Given the description of an element on the screen output the (x, y) to click on. 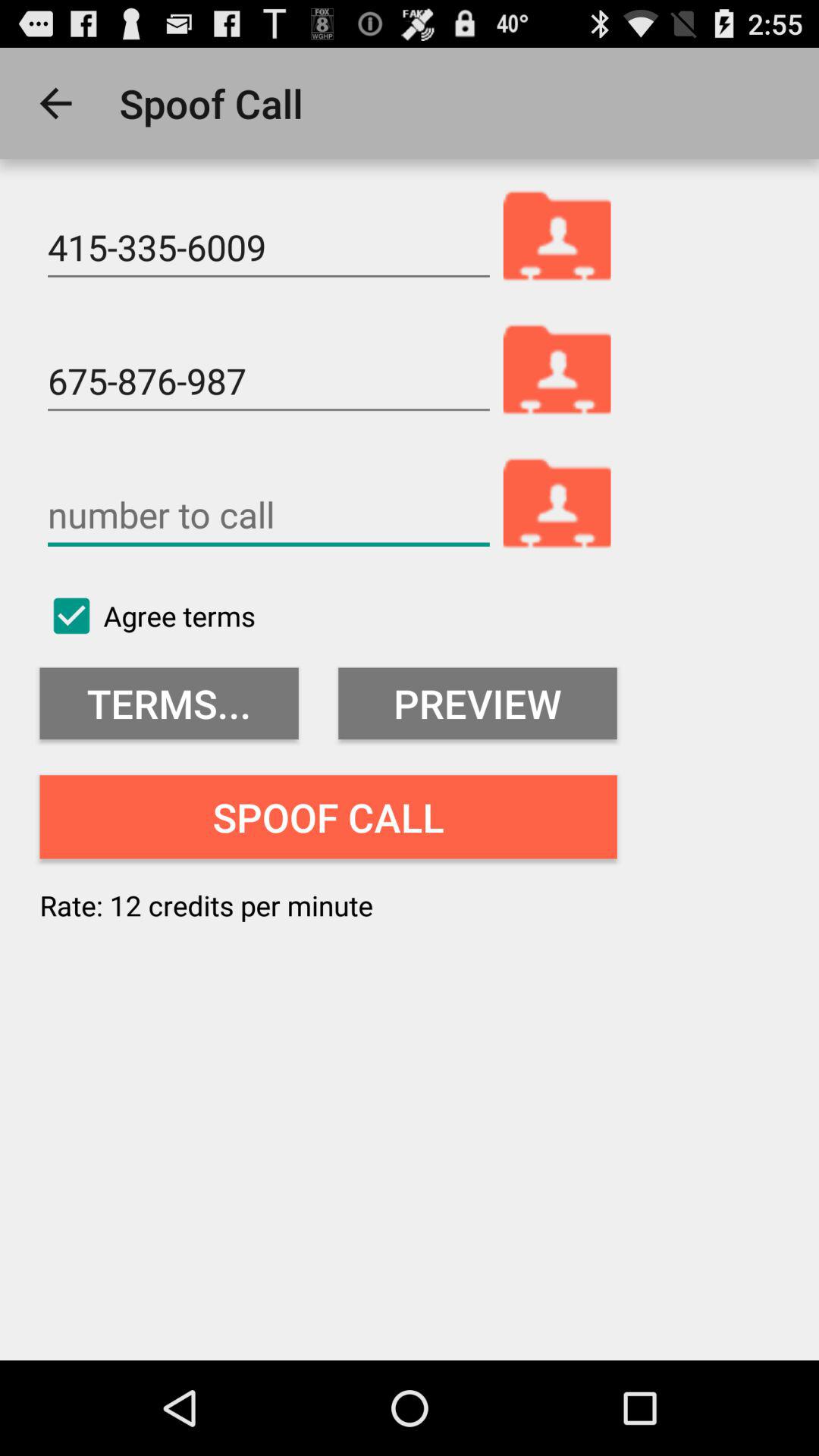
choose the item below 675-876-987 icon (268, 515)
